Given the description of an element on the screen output the (x, y) to click on. 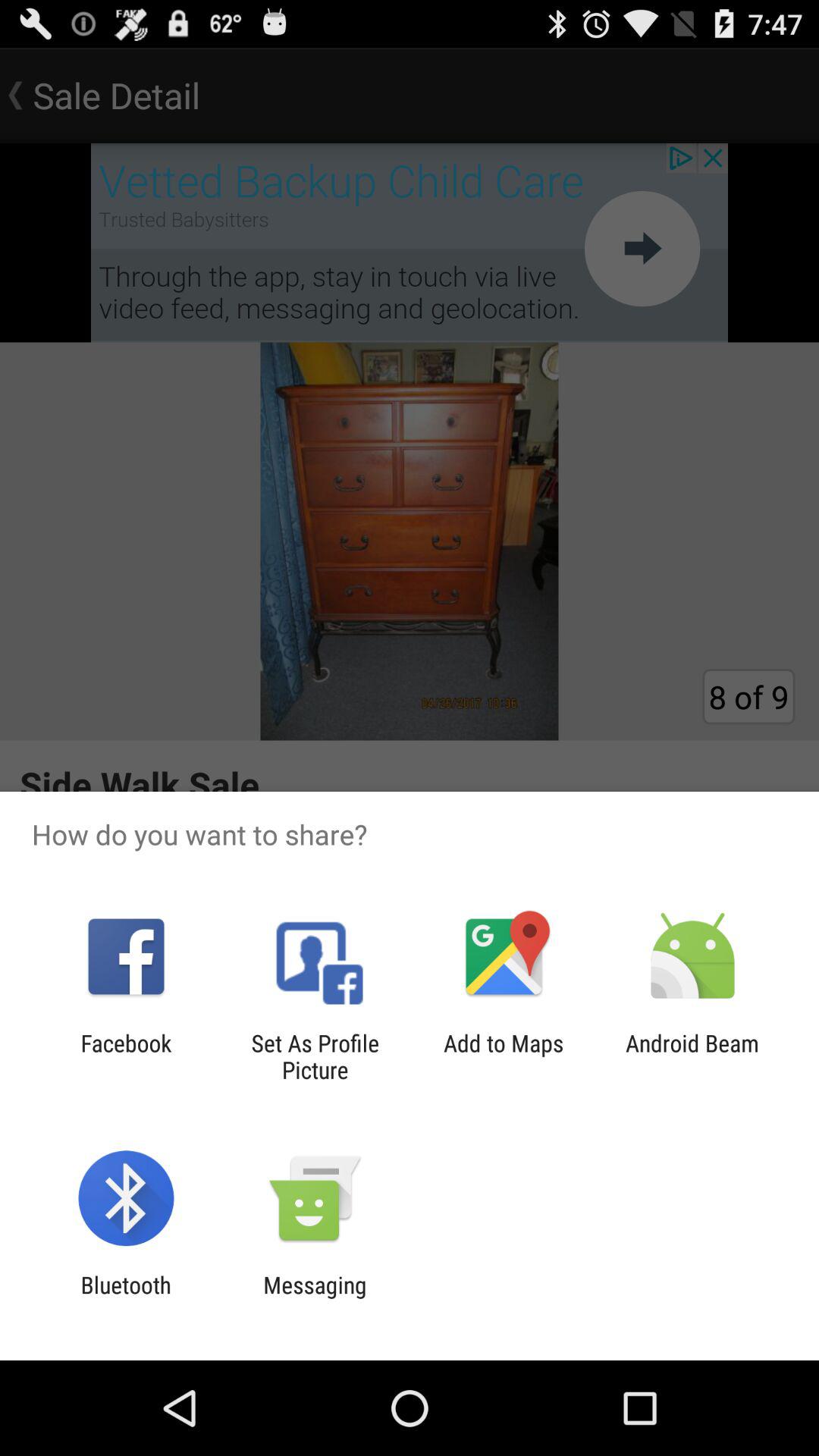
flip to bluetooth (125, 1298)
